Given the description of an element on the screen output the (x, y) to click on. 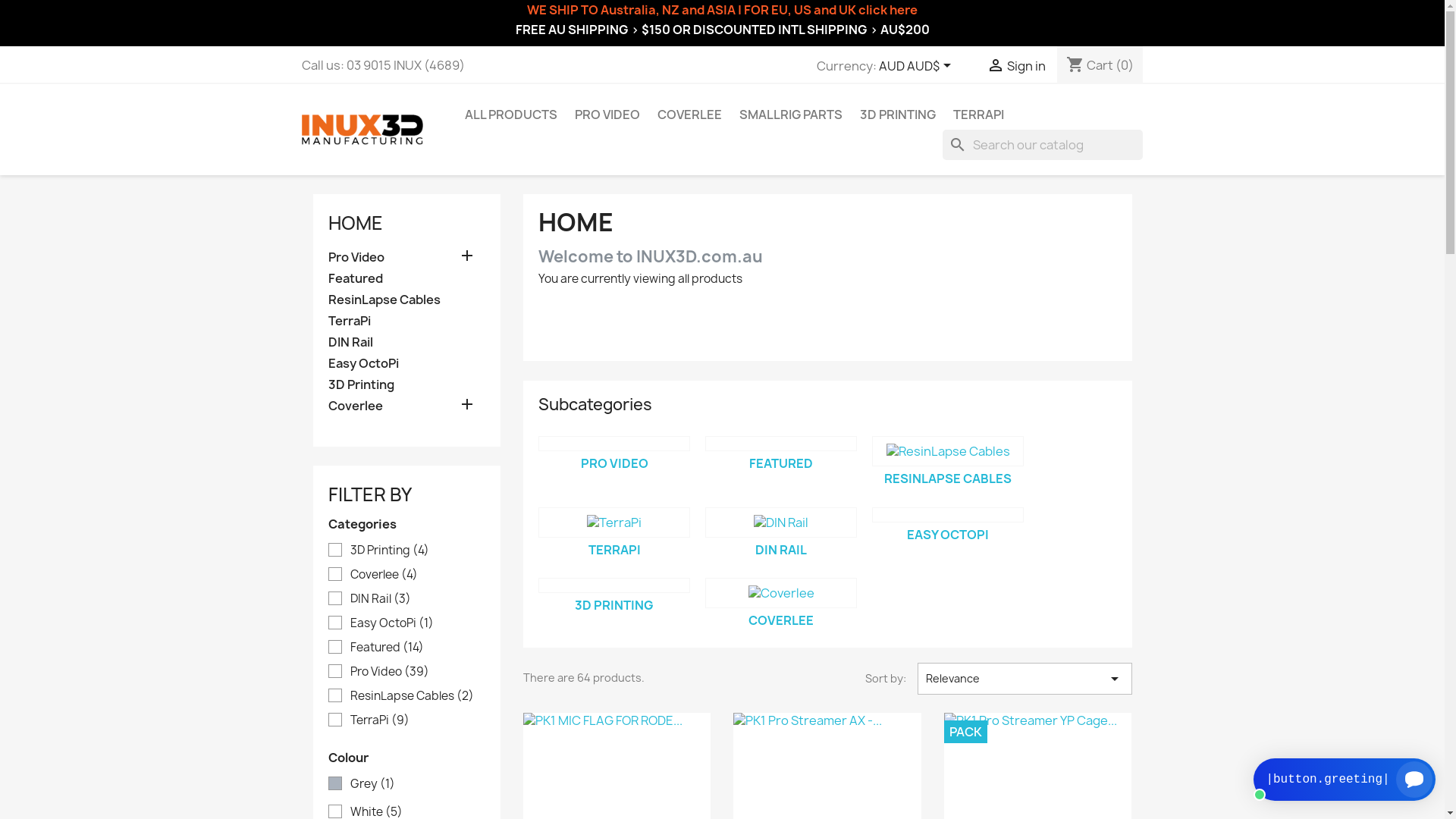
Pro Video (39) Element type: text (417, 671)
Pro Video Element type: text (406, 257)
ResinLapse Cables Element type: text (406, 300)
Featured Element type: hover (780, 443)
Easy OctoPi Element type: hover (947, 514)
Coverlee (4) Element type: text (417, 574)
TerraPi Element type: hover (614, 522)
SMALLRIG PARTS Element type: text (790, 114)
ResinLapse Cables (2) Element type: text (417, 695)
EASY OCTOPI Element type: text (947, 534)
COVERLEE Element type: text (688, 114)
ALL PRODUCTS Element type: text (510, 114)
3D Printing Element type: hover (614, 585)
COVERLEE Element type: text (780, 619)
3D Printing (4) Element type: text (417, 550)
Featured Element type: text (406, 279)
TERRAPI Element type: text (614, 549)
PRO VIDEO Element type: text (607, 114)
Grey (1) Element type: text (417, 783)
Easy OctoPi (1) Element type: text (417, 622)
Smartsupp widget button Element type: hover (1344, 779)
RESINLAPSE CABLES Element type: text (947, 478)
Easy OctoPi Element type: text (406, 364)
3D Printing Element type: text (406, 385)
Featured (14) Element type: text (417, 647)
FOR EU, US and UK click here Element type: text (830, 9)
DIN Rail (3) Element type: text (417, 598)
Coverlee Element type: hover (780, 592)
DIN RAIL Element type: text (780, 549)
TERRAPI Element type: text (977, 114)
Pro Video Element type: hover (614, 443)
ResinLapse Cables Element type: hover (947, 451)
HOME Element type: text (354, 222)
TerraPi Element type: text (406, 321)
Coverlee Element type: text (406, 406)
TerraPi (9) Element type: text (417, 720)
PRO VIDEO Element type: text (614, 463)
FEATURED Element type: text (780, 463)
3D PRINTING Element type: text (613, 604)
DIN Rail Element type: hover (780, 522)
DIN Rail Element type: text (406, 342)
3D PRINTING Element type: text (897, 114)
